Given the description of an element on the screen output the (x, y) to click on. 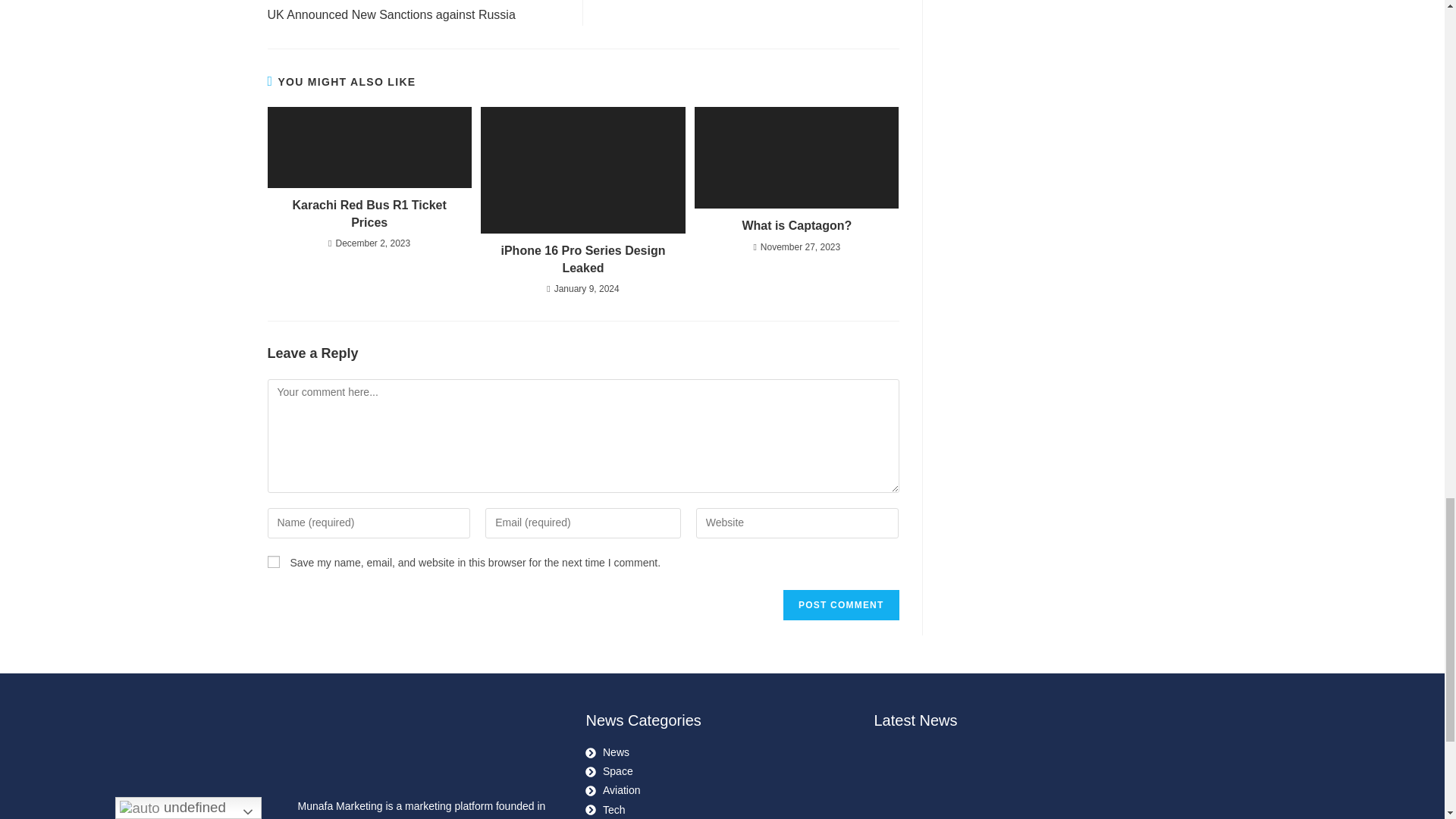
yes (272, 562)
Post Comment (840, 604)
